Given the description of an element on the screen output the (x, y) to click on. 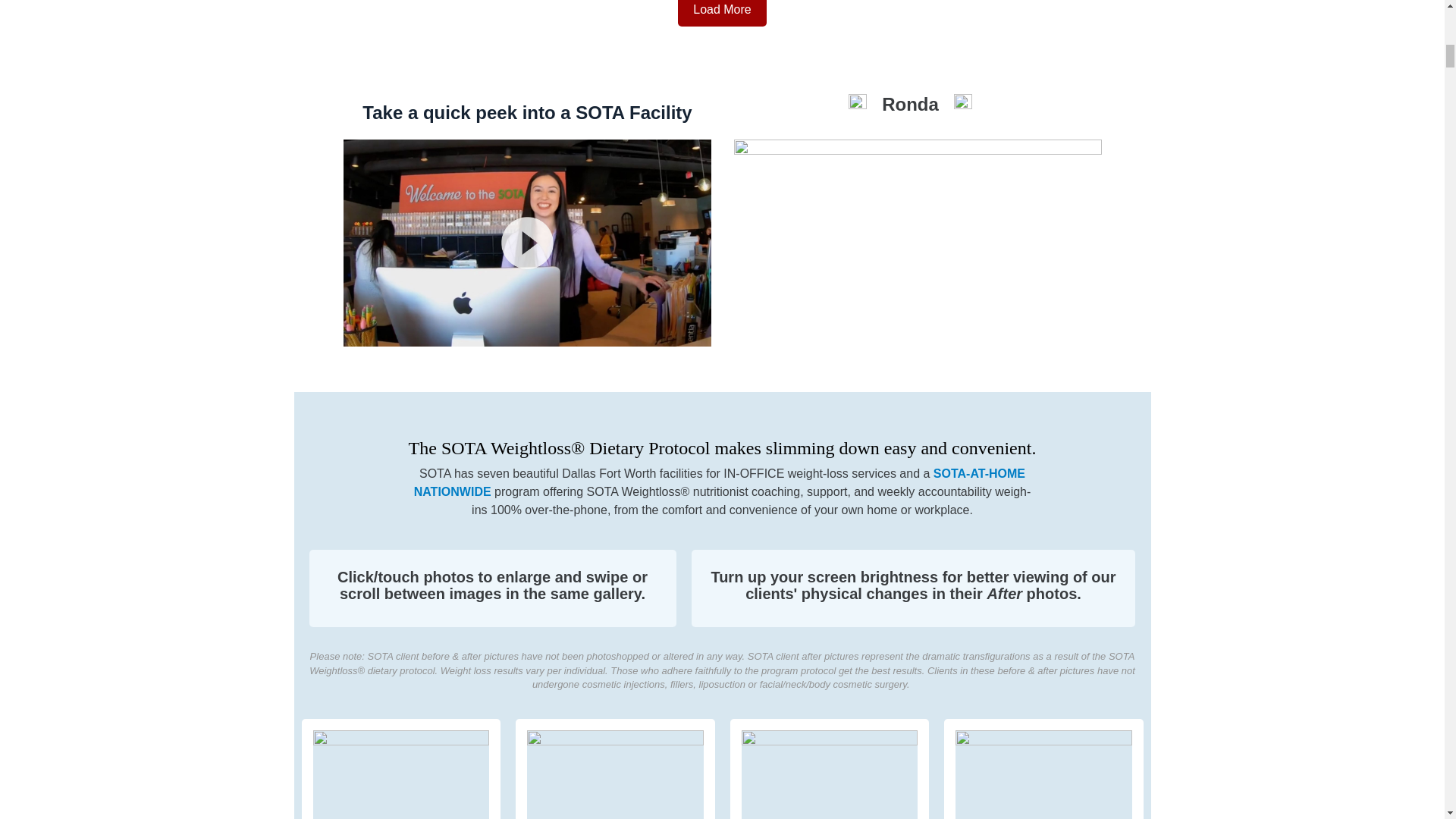
SOTA-AT-HOME NATIONWIDE (719, 481)
Load More (722, 13)
